Given the description of an element on the screen output the (x, y) to click on. 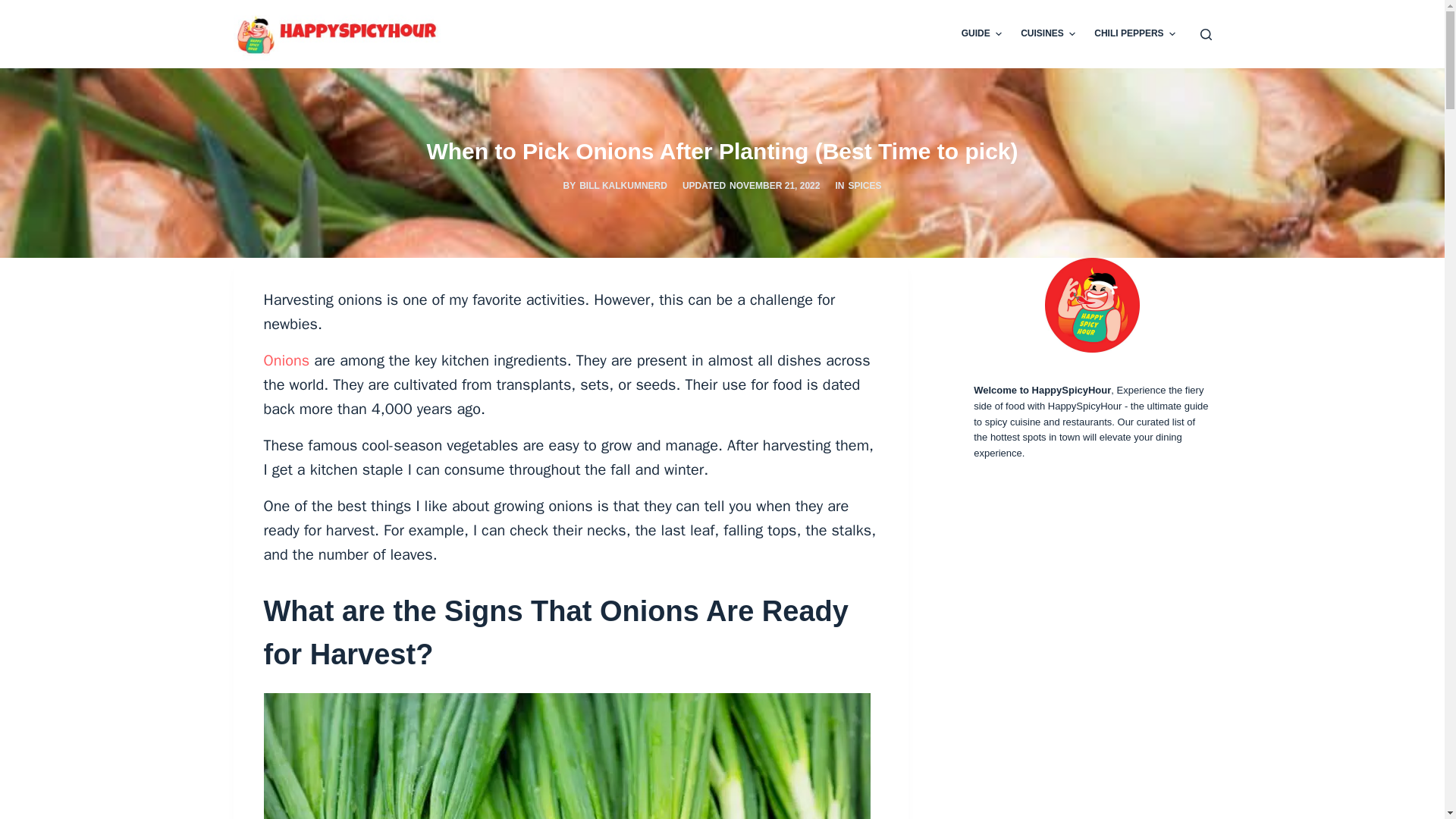
CUISINES (1047, 33)
CHILI PEPPERS (1134, 33)
Skip to content (15, 7)
Onions Roots (566, 755)
SPICES (863, 185)
Onions (286, 360)
BILL KALKUMNERD (622, 185)
Posts by Bill Kalkumnerd (622, 185)
